Given the description of an element on the screen output the (x, y) to click on. 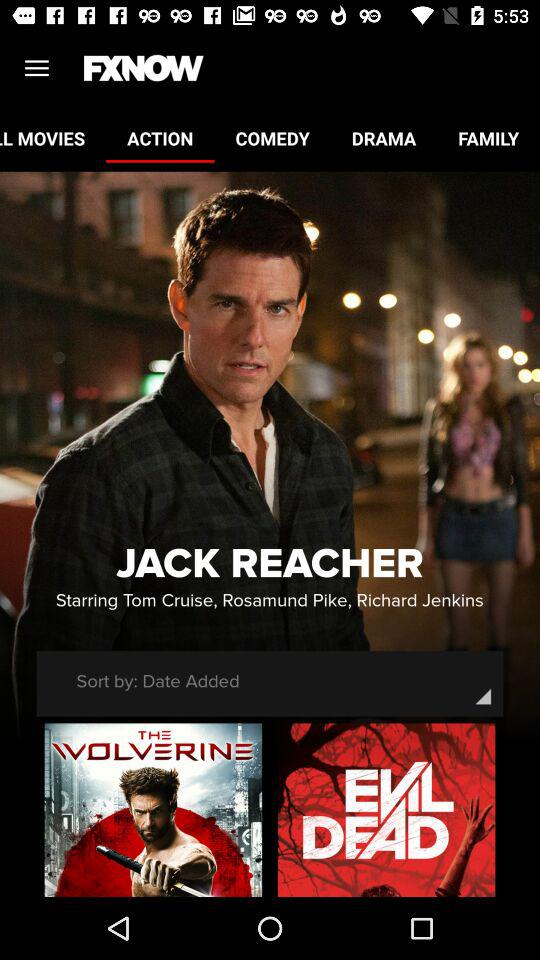
click the comedy icon (272, 138)
